Given the description of an element on the screen output the (x, y) to click on. 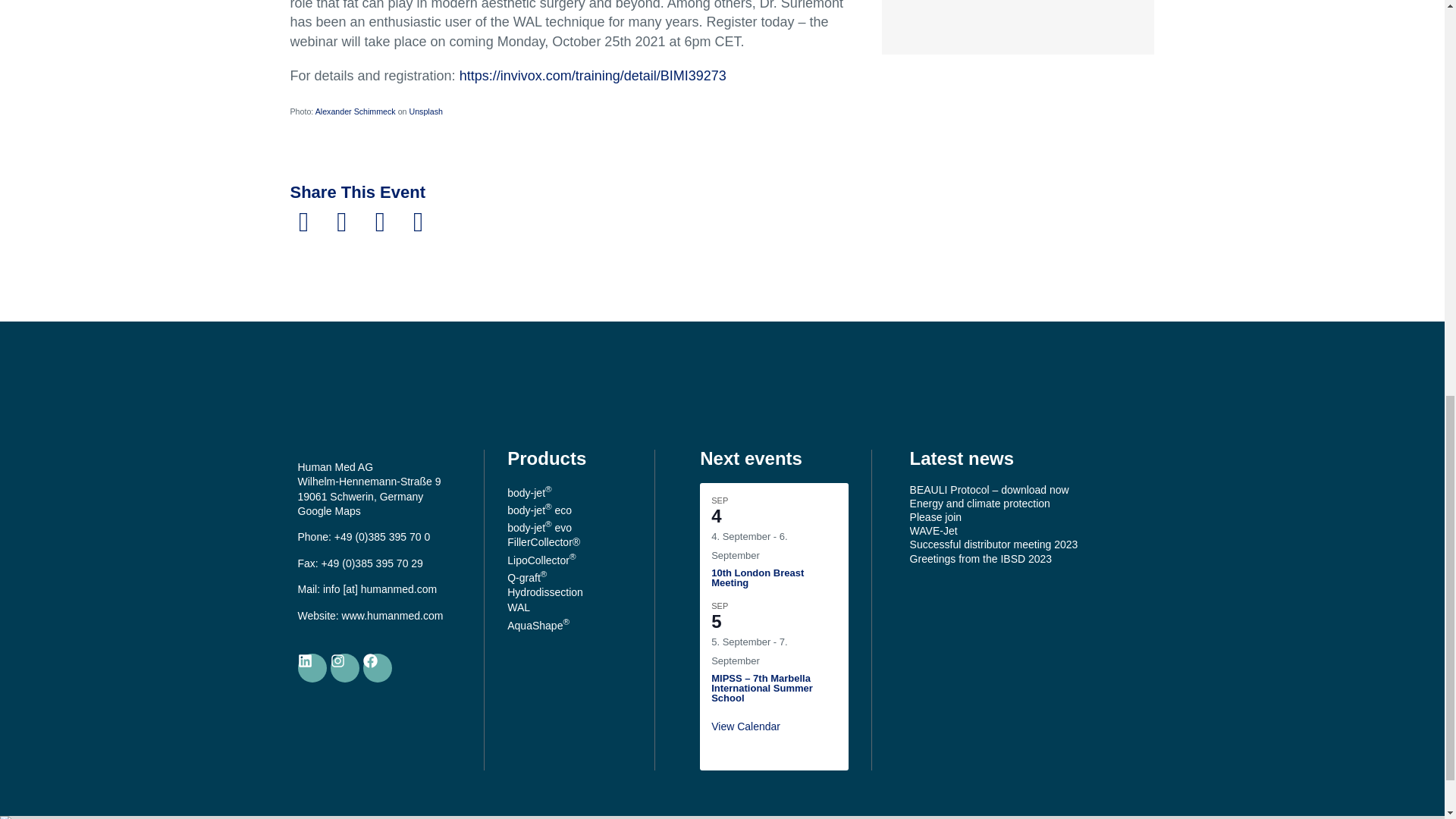
Email (379, 221)
Twitter (342, 221)
10th London Breast Meeting (757, 577)
WhatsApp (417, 221)
View more events. (745, 726)
